Given the description of an element on the screen output the (x, y) to click on. 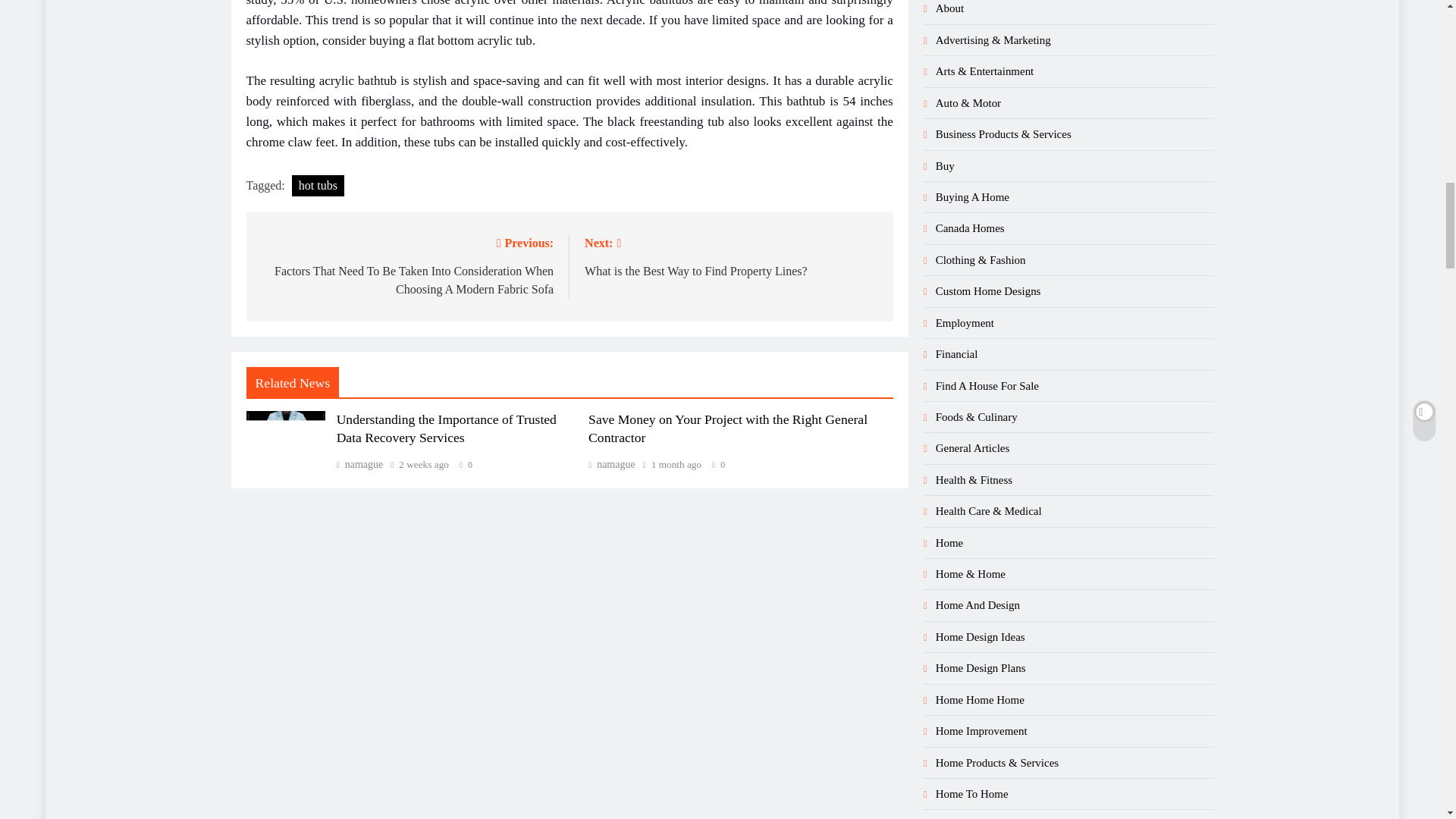
1 month ago (675, 464)
namague (360, 464)
Save Money on Your Project with the Right General Contractor (727, 428)
2 weeks ago (423, 464)
namague (611, 464)
hot tubs (317, 185)
